Given the description of an element on the screen output the (x, y) to click on. 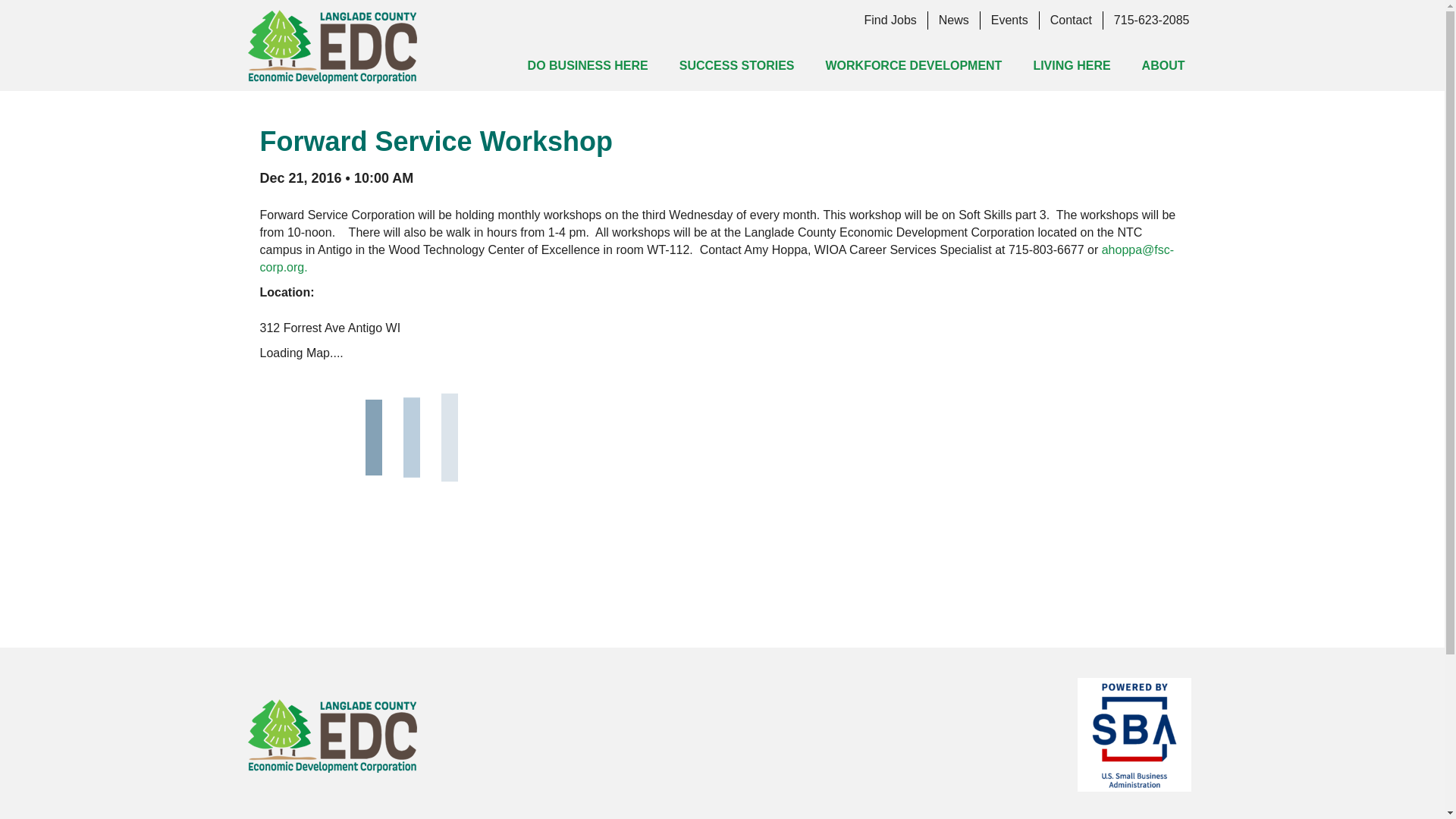
News (953, 20)
WORKFORCE DEVELOPMENT (912, 65)
LIVING HERE (1071, 65)
SUCCESS STORIES (736, 65)
Find Jobs (889, 20)
Events (1009, 20)
715-623-2085 (1151, 20)
SBA-PoweredBy logo (1134, 734)
DO BUSINESS HERE (587, 65)
Contact (1070, 20)
